Given the description of an element on the screen output the (x, y) to click on. 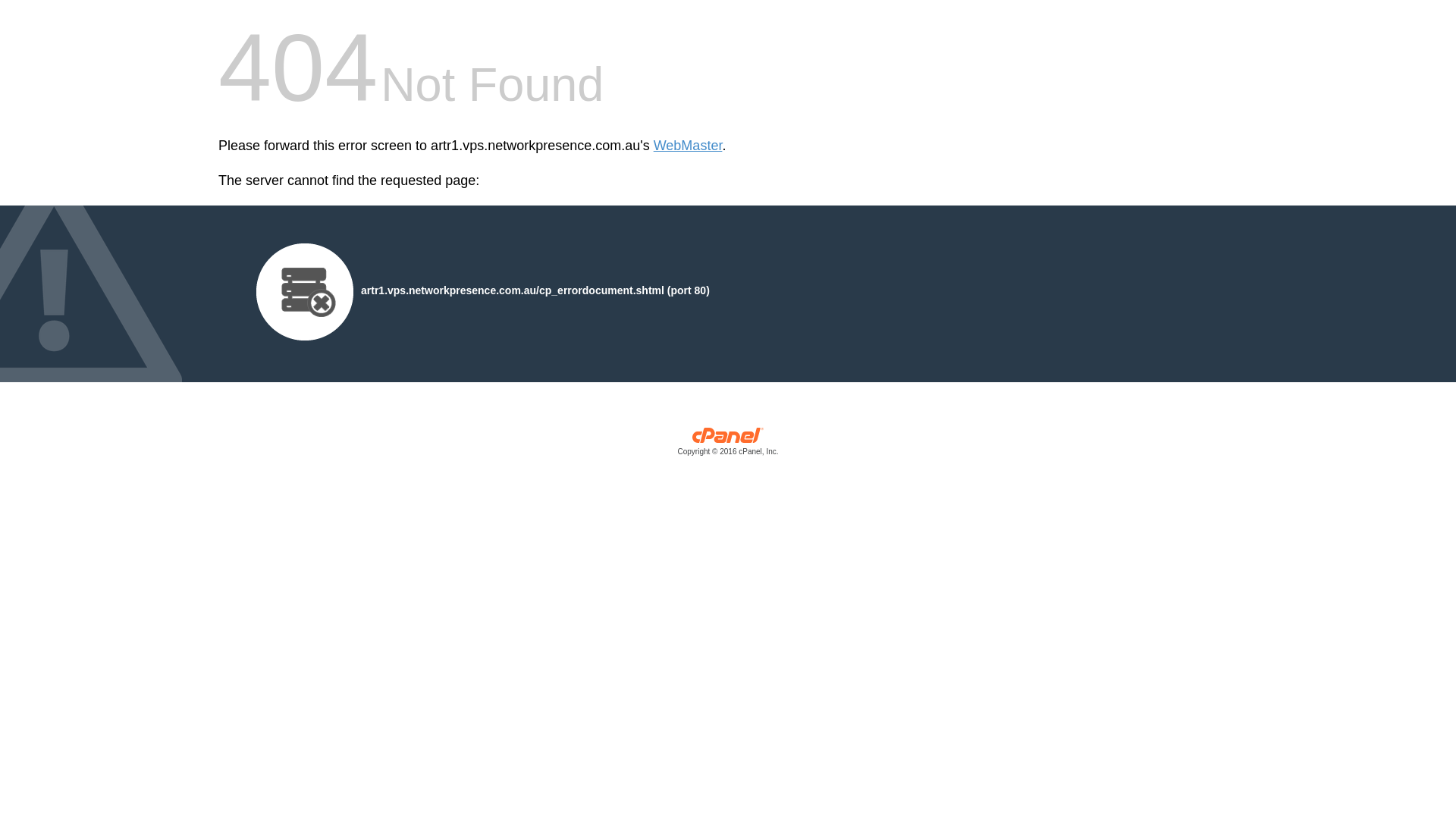
WebMaster Element type: text (687, 145)
